Given the description of an element on the screen output the (x, y) to click on. 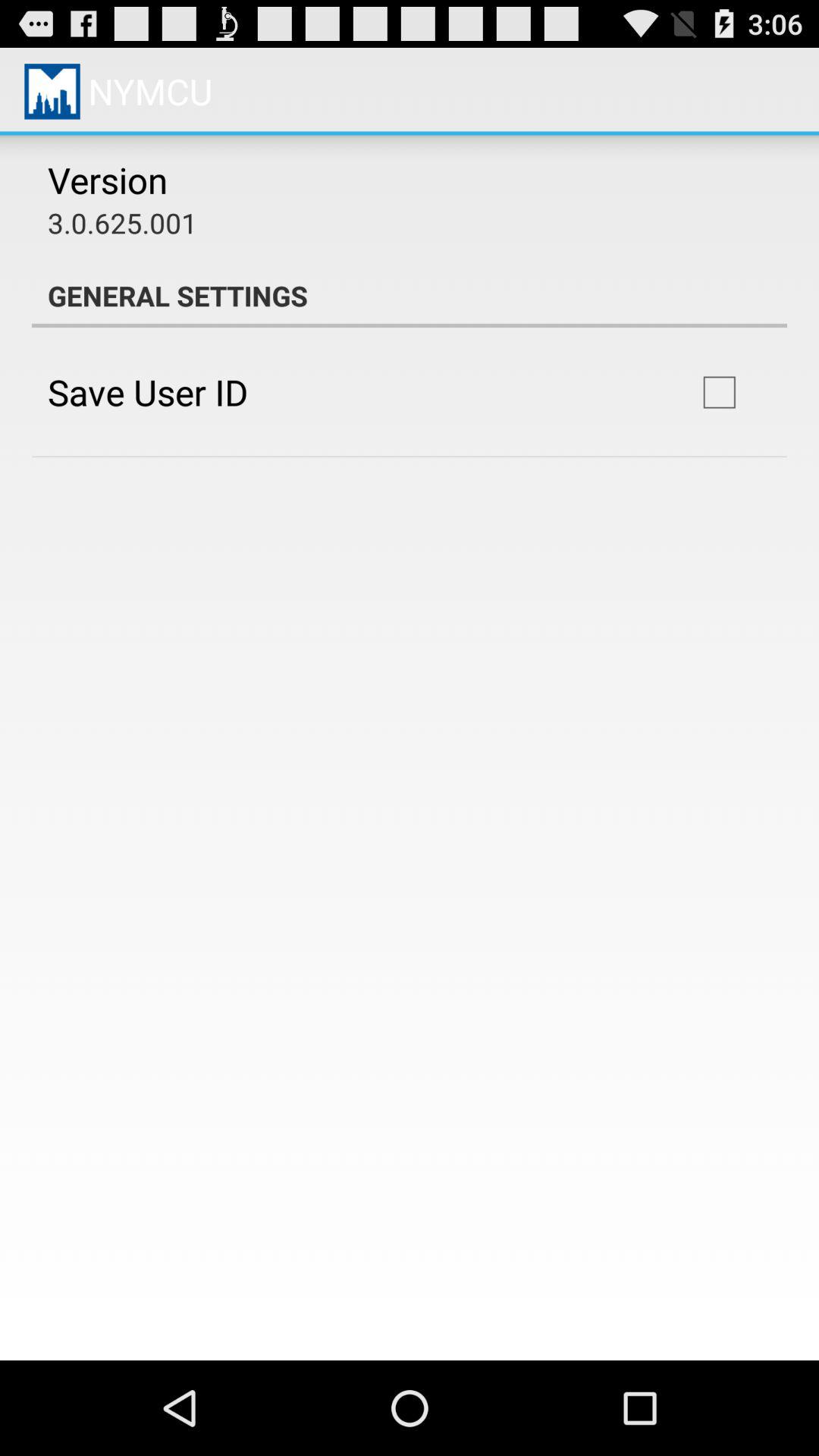
click save user id app (147, 391)
